Given the description of an element on the screen output the (x, y) to click on. 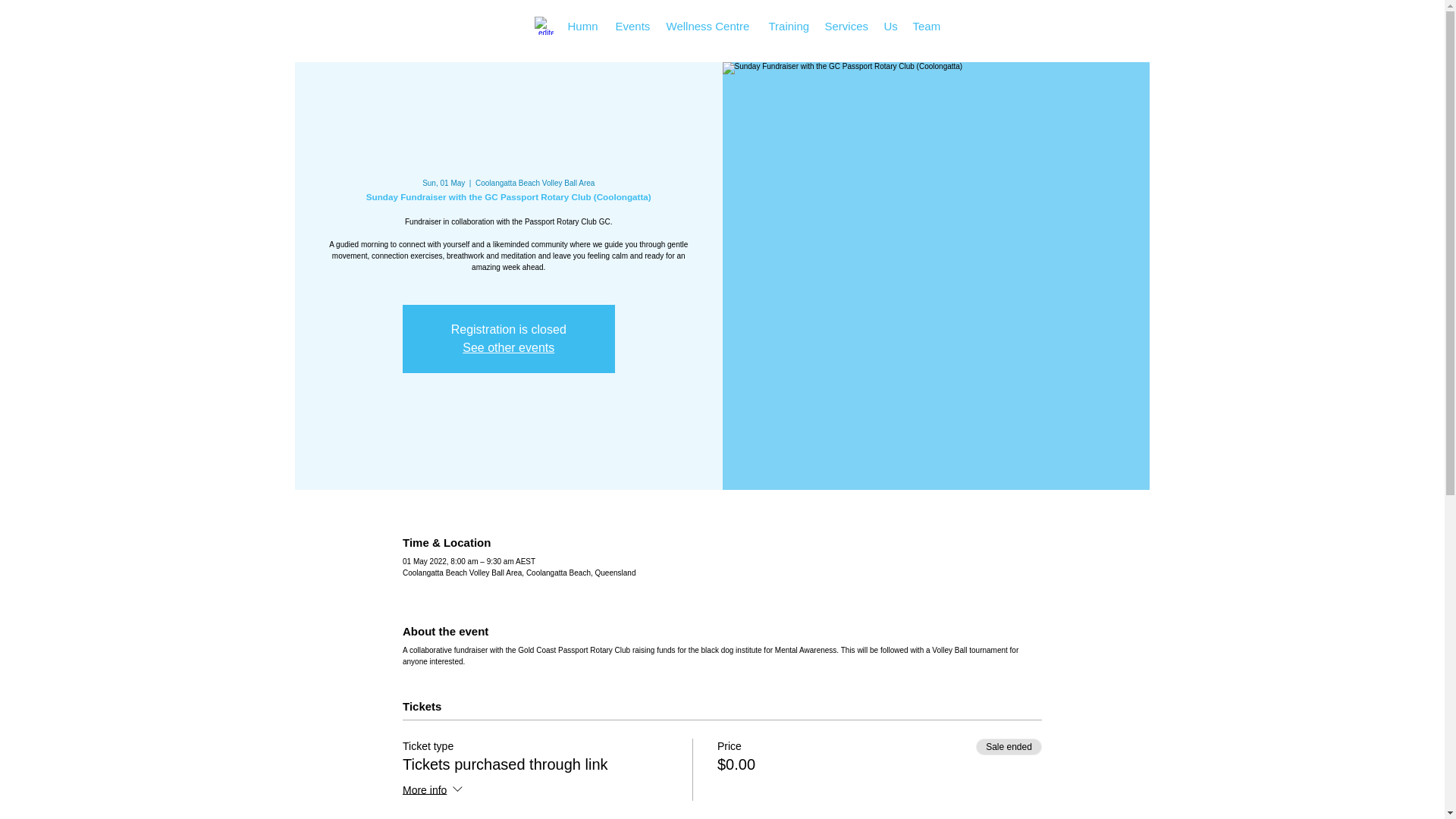
Wellness Centre (709, 26)
More info (434, 790)
Humn (583, 26)
Services (846, 26)
Us (890, 26)
Team (927, 26)
See other events (508, 347)
Events (633, 26)
Training (788, 26)
